Given the description of an element on the screen output the (x, y) to click on. 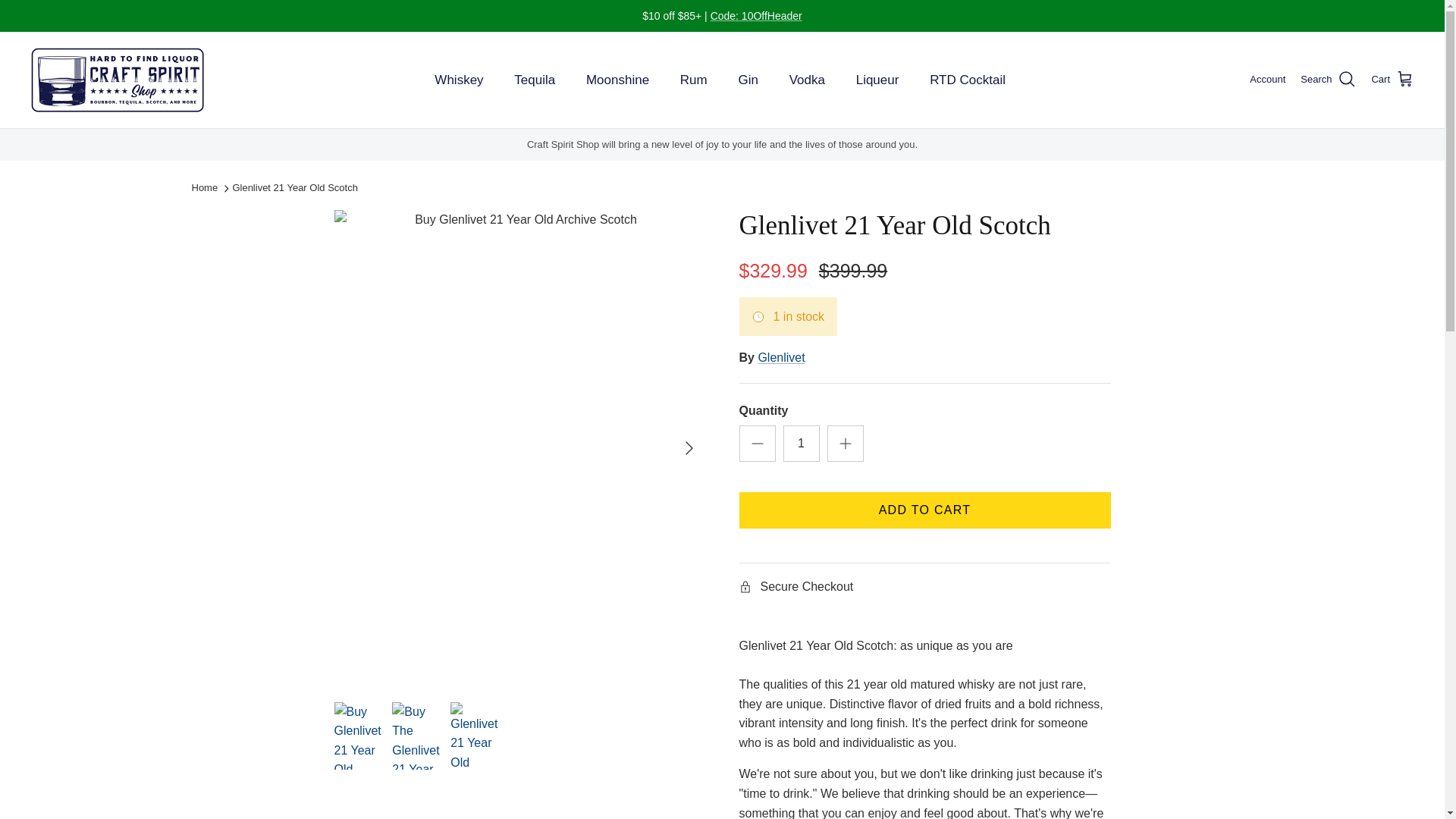
Rum (693, 80)
Craft Spirit Shop (117, 79)
Account (1267, 79)
Plus (844, 443)
Vodka (807, 80)
Liqueur (877, 80)
Whiskey (458, 80)
RIGHT (688, 447)
RTD Cocktail (967, 80)
1 (800, 443)
Tequila (534, 80)
Cart (1392, 79)
Code: 10OffHeader (756, 15)
Minus (756, 443)
Moonshine (617, 80)
